Given the description of an element on the screen output the (x, y) to click on. 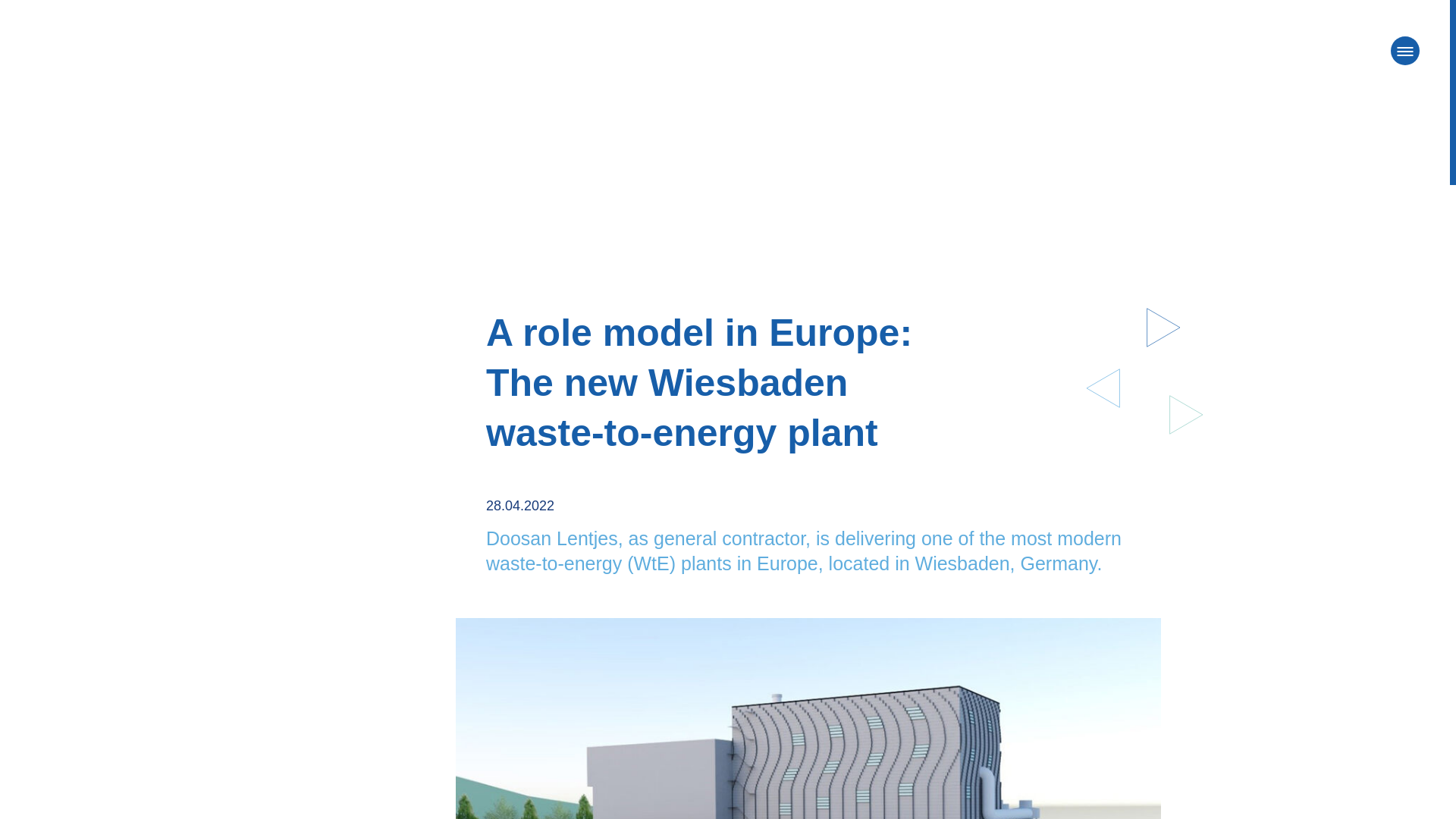
Menu (1404, 50)
